Given the description of an element on the screen output the (x, y) to click on. 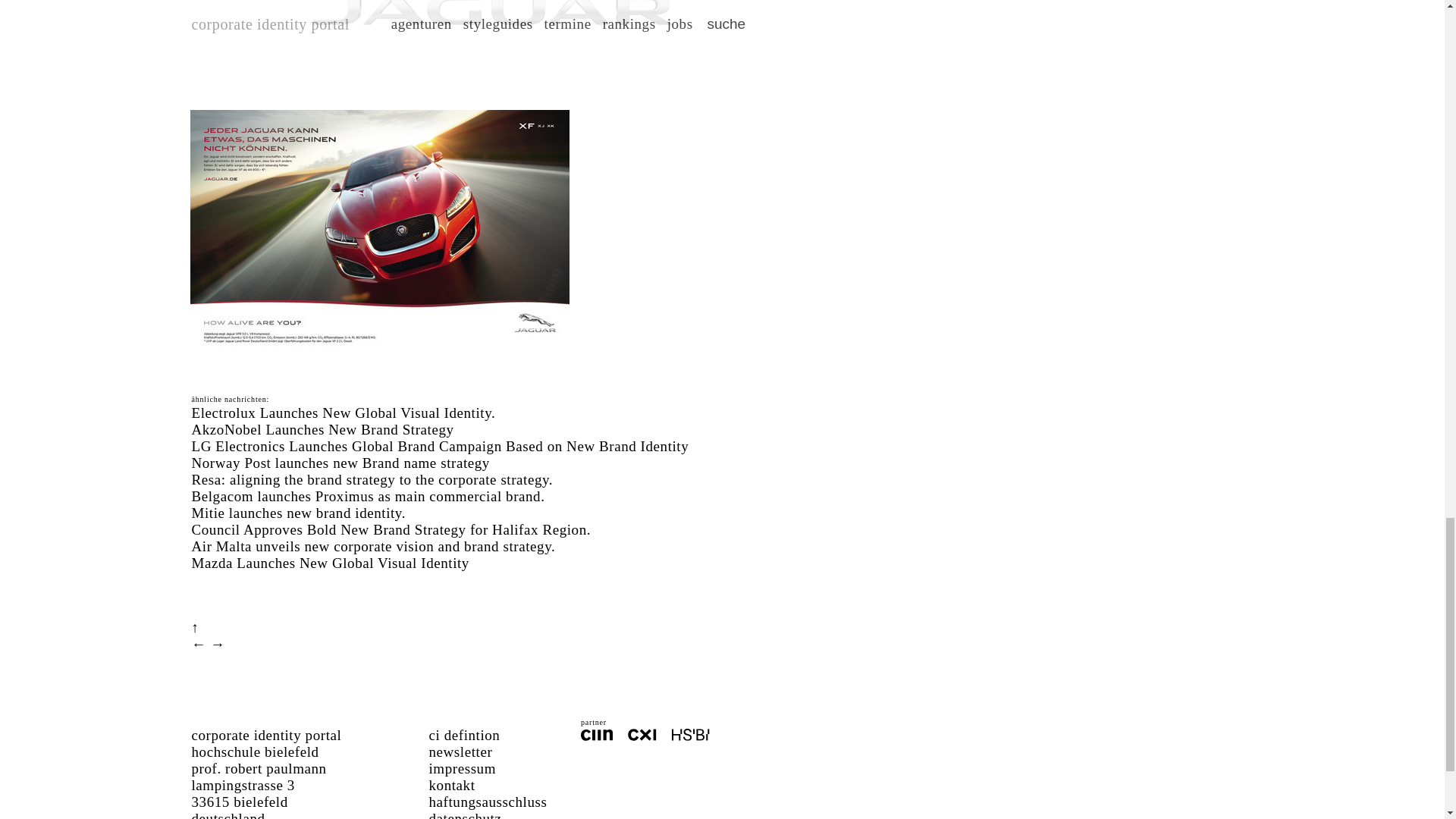
datenschutz (465, 814)
Hochschule Bielefeld (690, 735)
newsletter (461, 751)
Norway Post launches new Brand name strategy (339, 462)
Mitie launches new brand identity. (298, 512)
haftungsausschluss (488, 801)
kontakt (452, 785)
Belgacom launches Proximus as main commercial brand. (367, 496)
Council Approves Bold New Brand Strategy for Halifax Region. (390, 529)
Electrolux Launches New Global Visual Identity. (342, 412)
Mazda Launches New Global Visual Identity (329, 562)
ci defintion (464, 734)
Norway Post launches new Brand name strategy (339, 462)
Air Malta unveils new corporate vision and brand strategy. (372, 546)
